Given the description of an element on the screen output the (x, y) to click on. 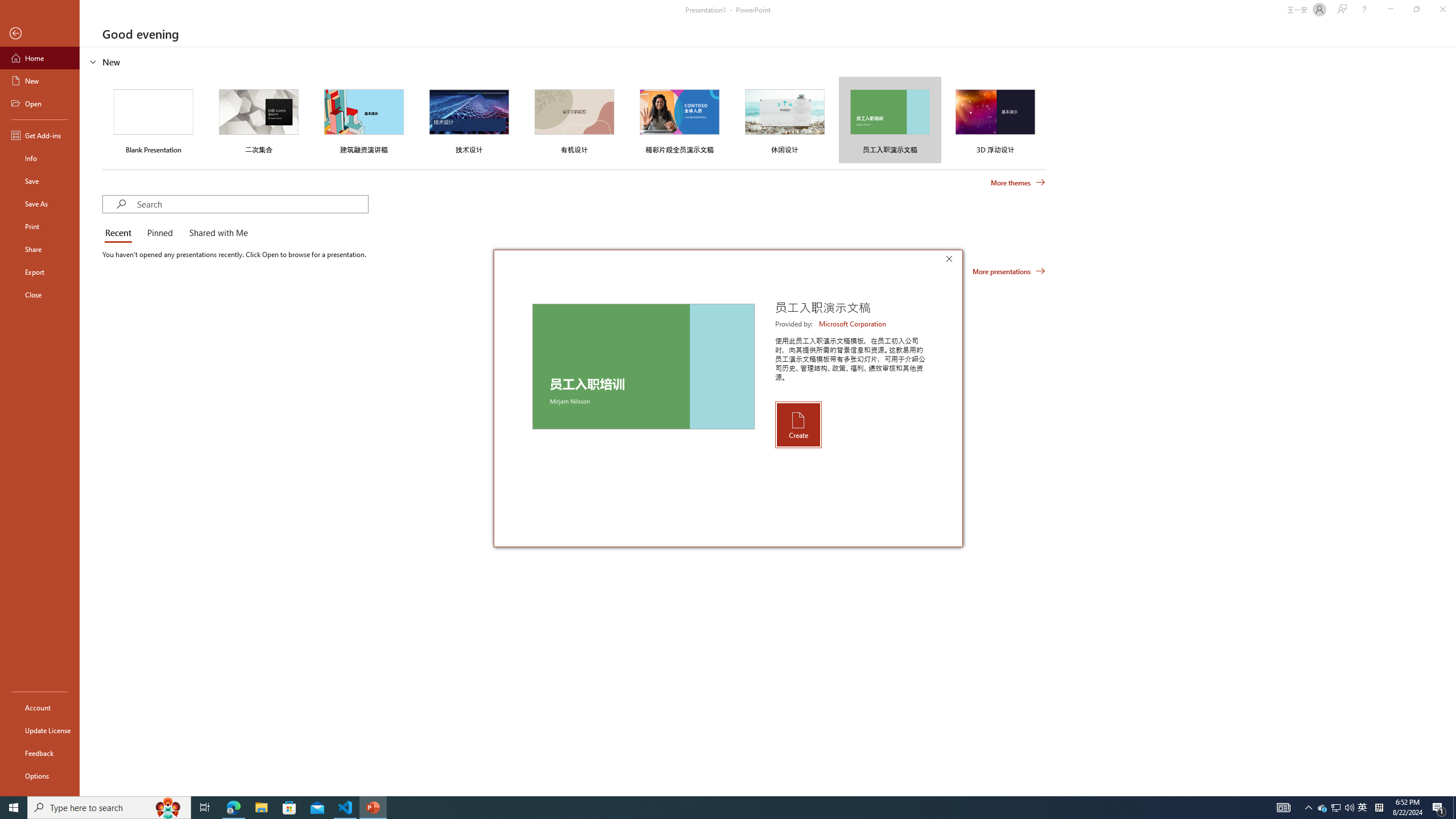
Shared with Me (215, 233)
Microsoft Corporation (853, 323)
Options (40, 775)
